Given the description of an element on the screen output the (x, y) to click on. 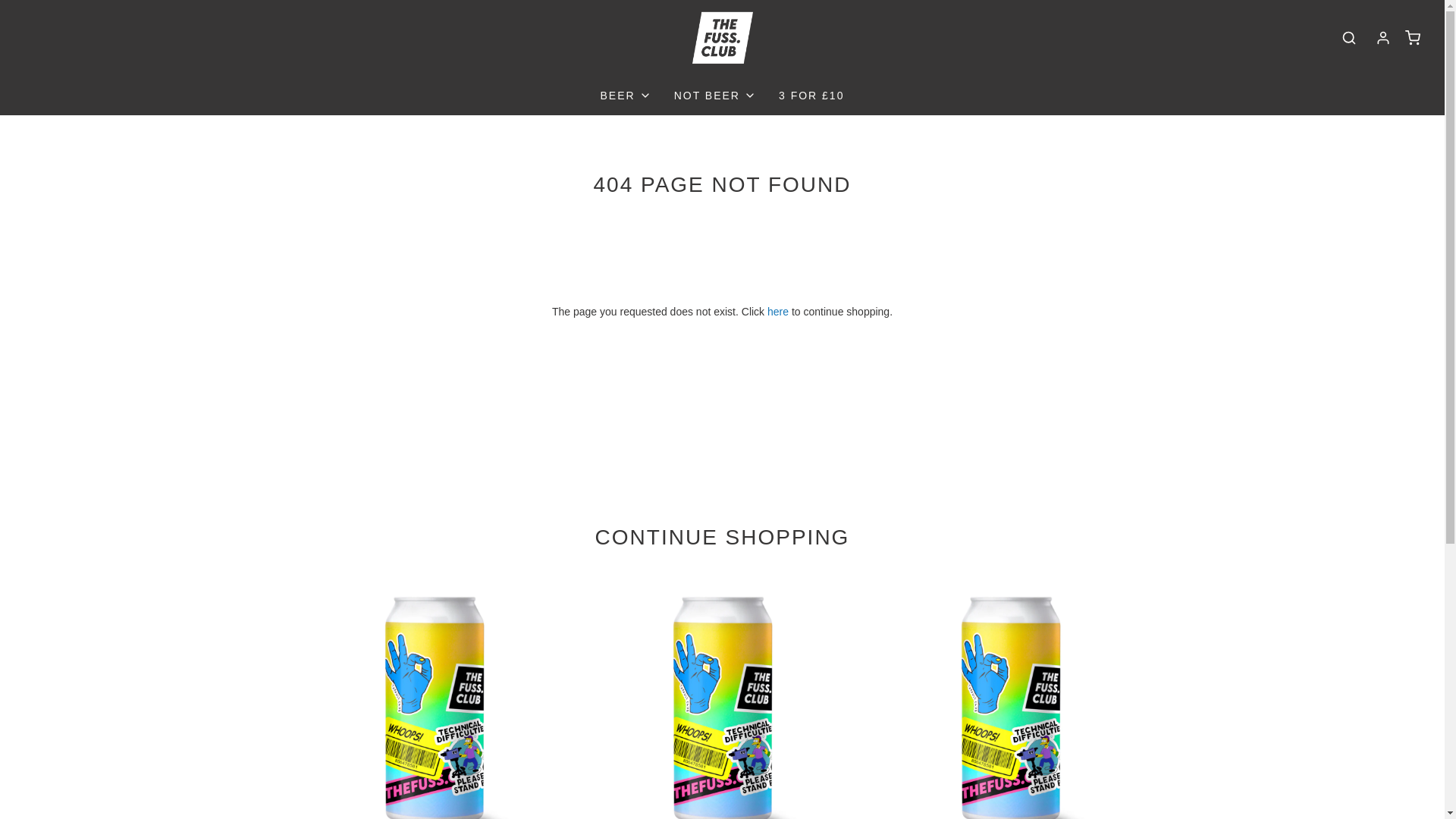
Search (1348, 37)
Cart (1412, 37)
Log in (1382, 37)
